Given the description of an element on the screen output the (x, y) to click on. 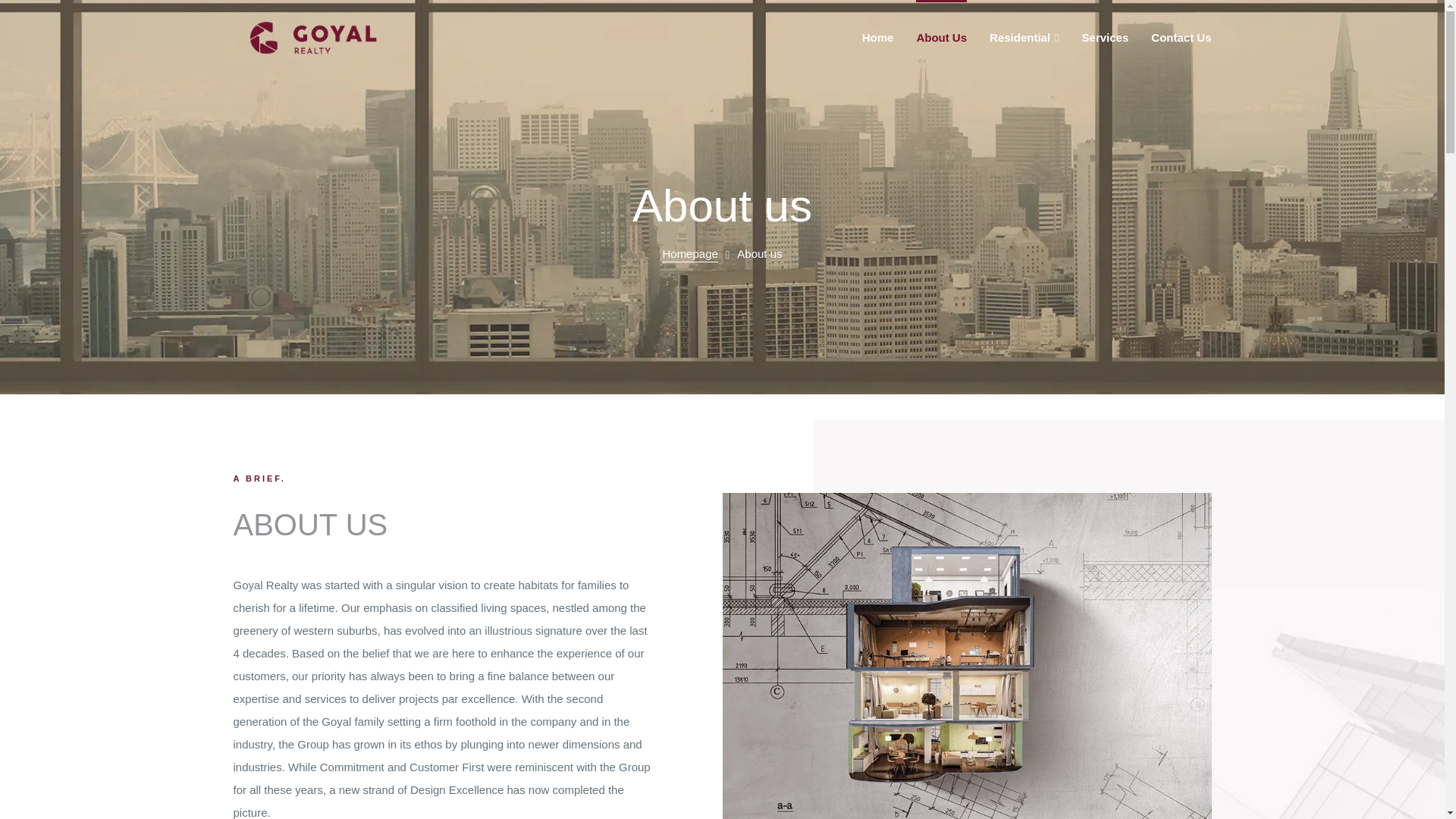
Go to Goyal Realty. (689, 254)
Contact Us (1181, 38)
Homepage (689, 254)
Residential (1024, 38)
Home (877, 38)
Services (1105, 38)
About Us (940, 38)
